Given the description of an element on the screen output the (x, y) to click on. 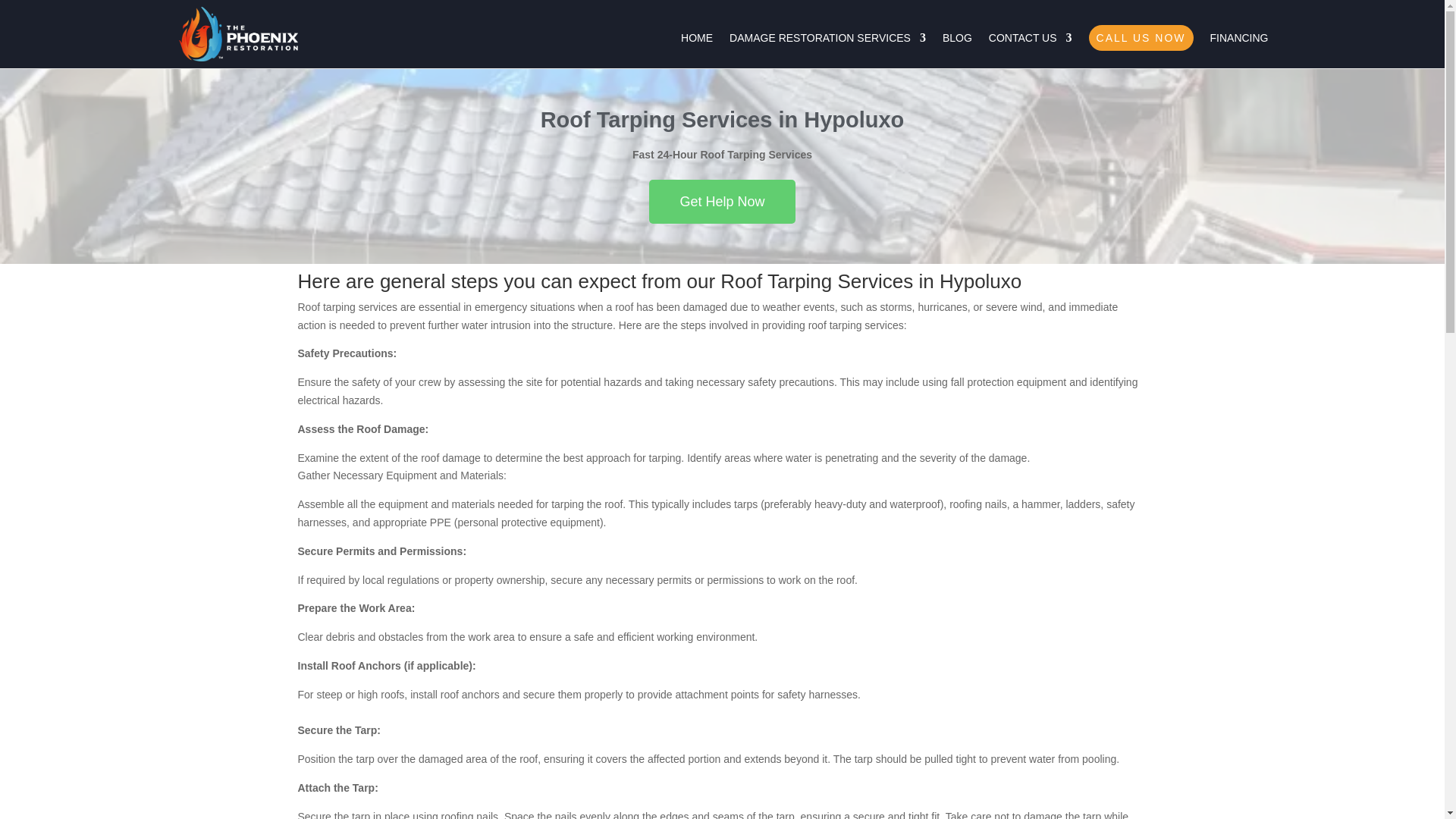
DAMAGE RESTORATION SERVICES (827, 49)
CONTACT US (1029, 49)
Get Help Now (721, 201)
CALL US NOW (1141, 37)
FINANCING (1238, 49)
HOME (697, 49)
BLOG (957, 49)
